Given the description of an element on the screen output the (x, y) to click on. 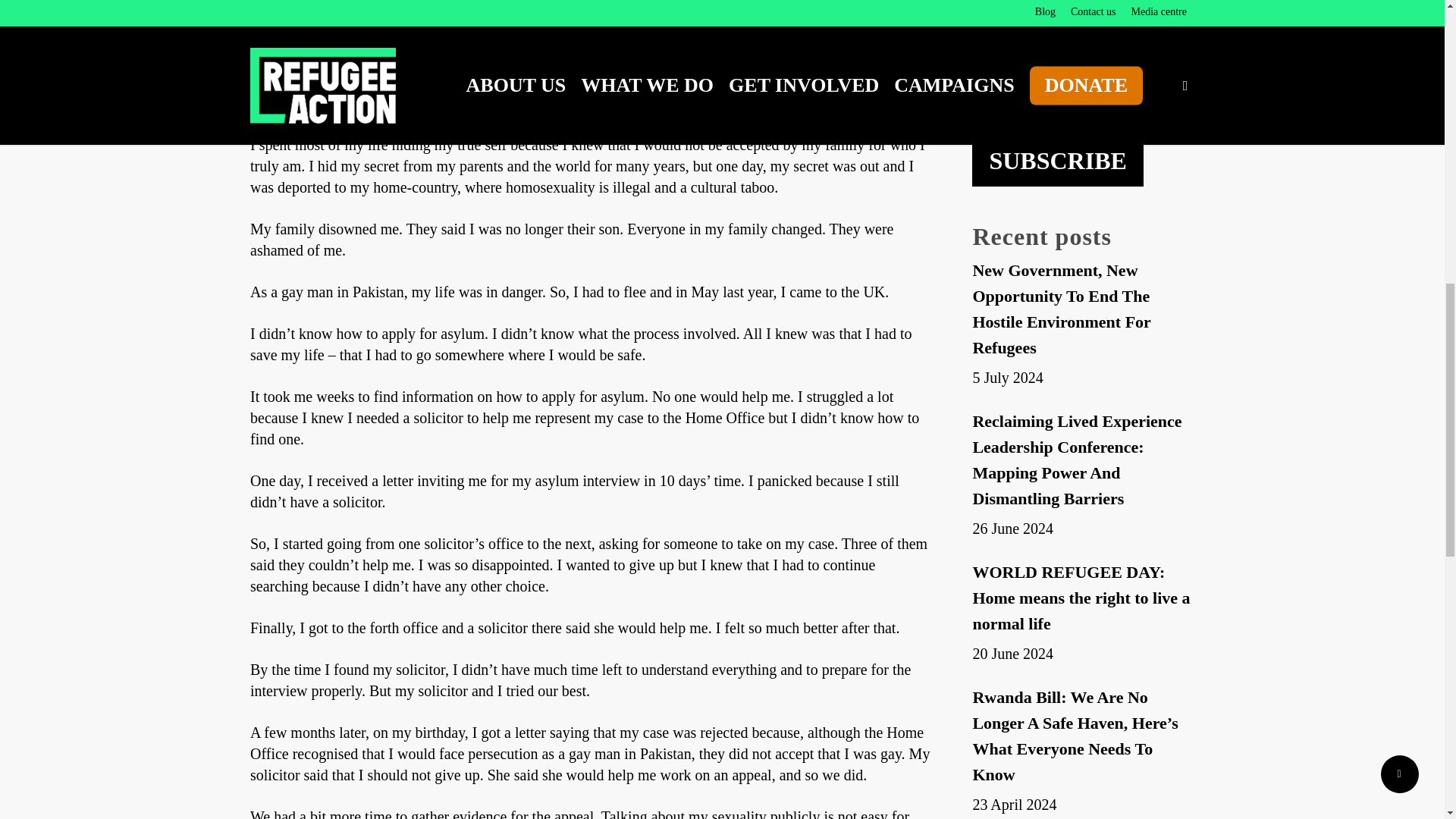
Subscribe (1057, 160)
